Given the description of an element on the screen output the (x, y) to click on. 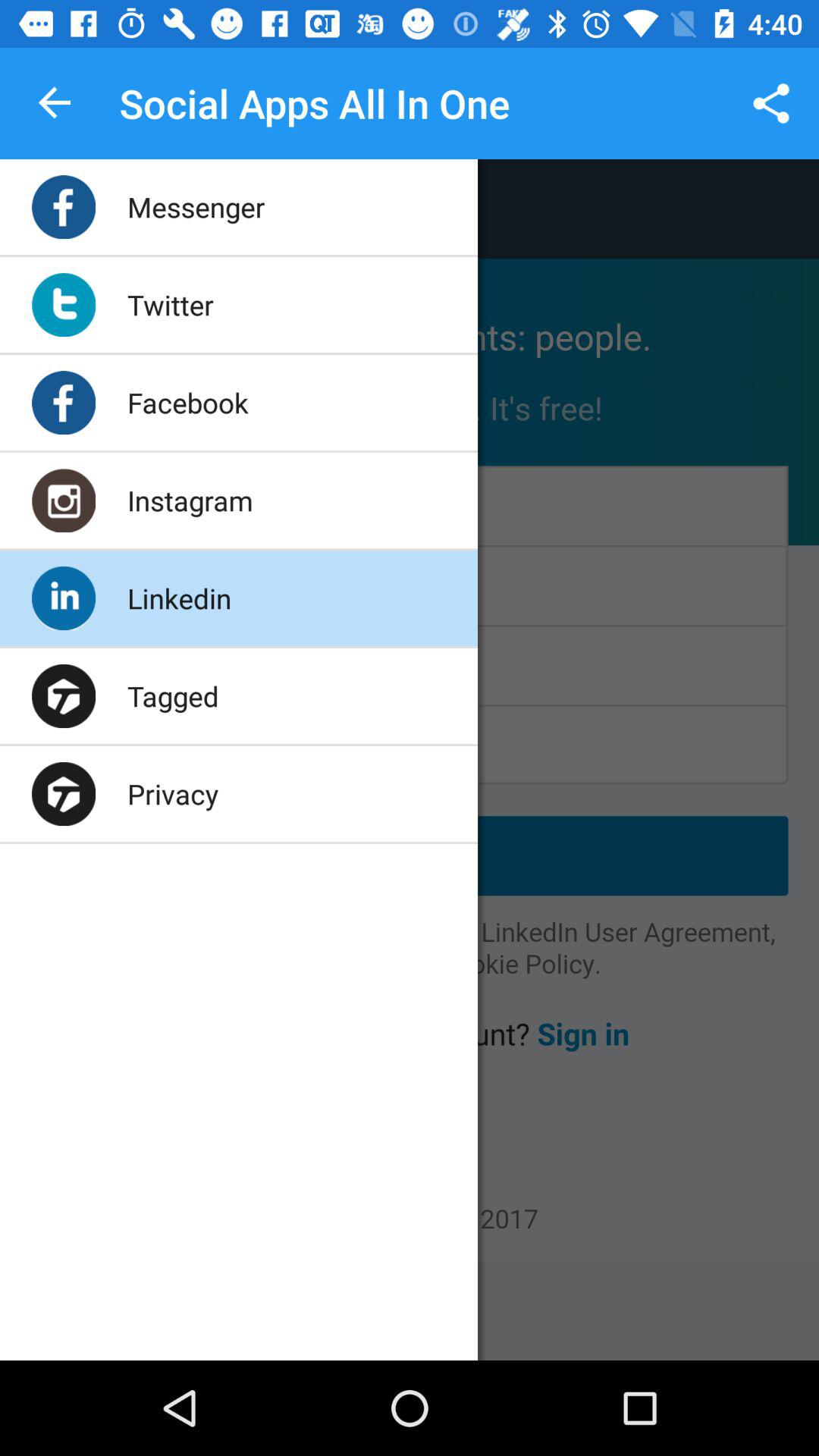
turn off icon to the left of social apps all icon (55, 103)
